Given the description of an element on the screen output the (x, y) to click on. 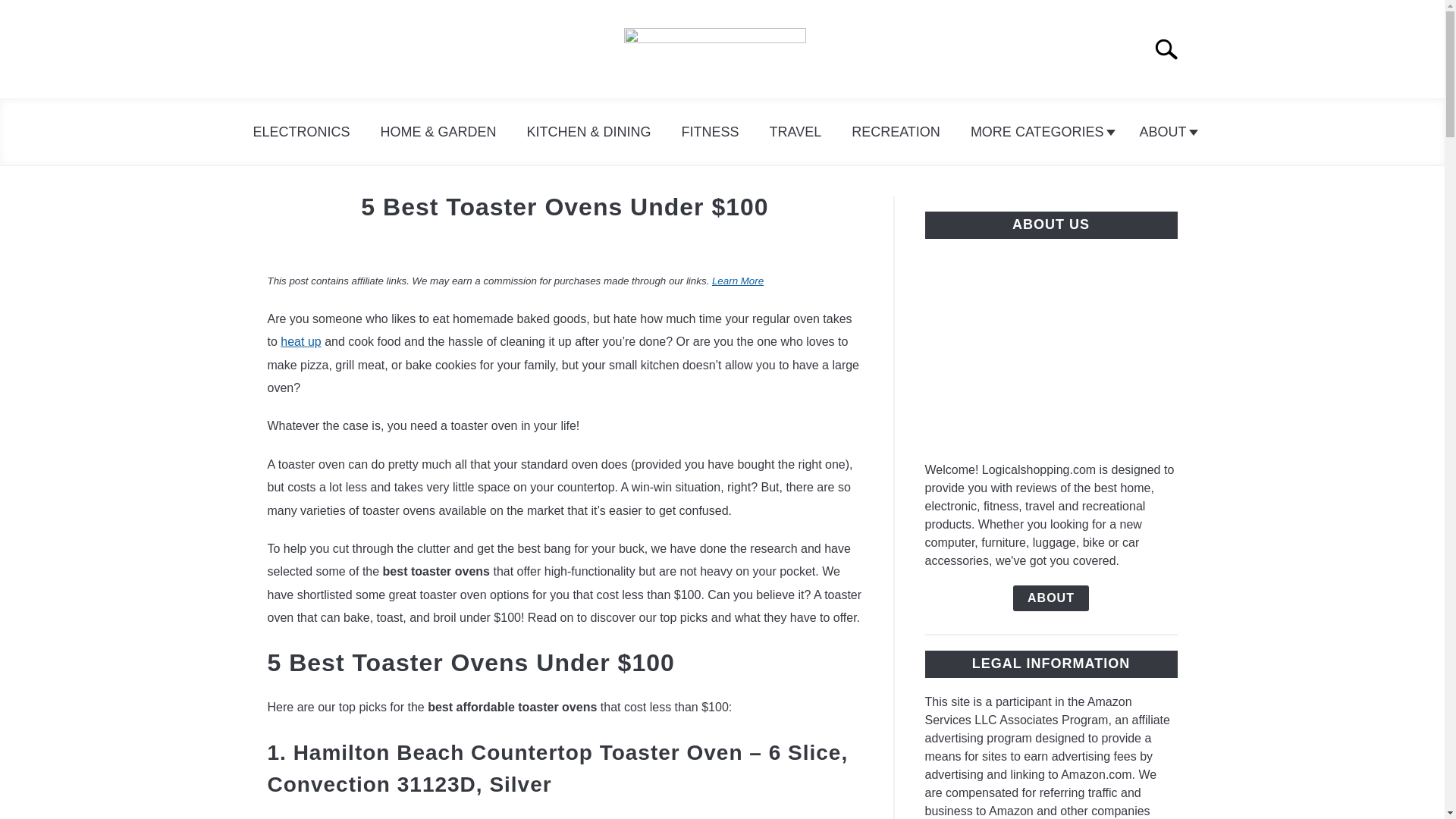
RECREATION (895, 131)
heat up (300, 341)
FITNESS (709, 131)
Search (1172, 49)
ELECTRONICS (301, 131)
TRAVEL (794, 131)
Learn More (736, 280)
ABOUT (1165, 131)
MORE CATEGORIES (1039, 131)
